Given the description of an element on the screen output the (x, y) to click on. 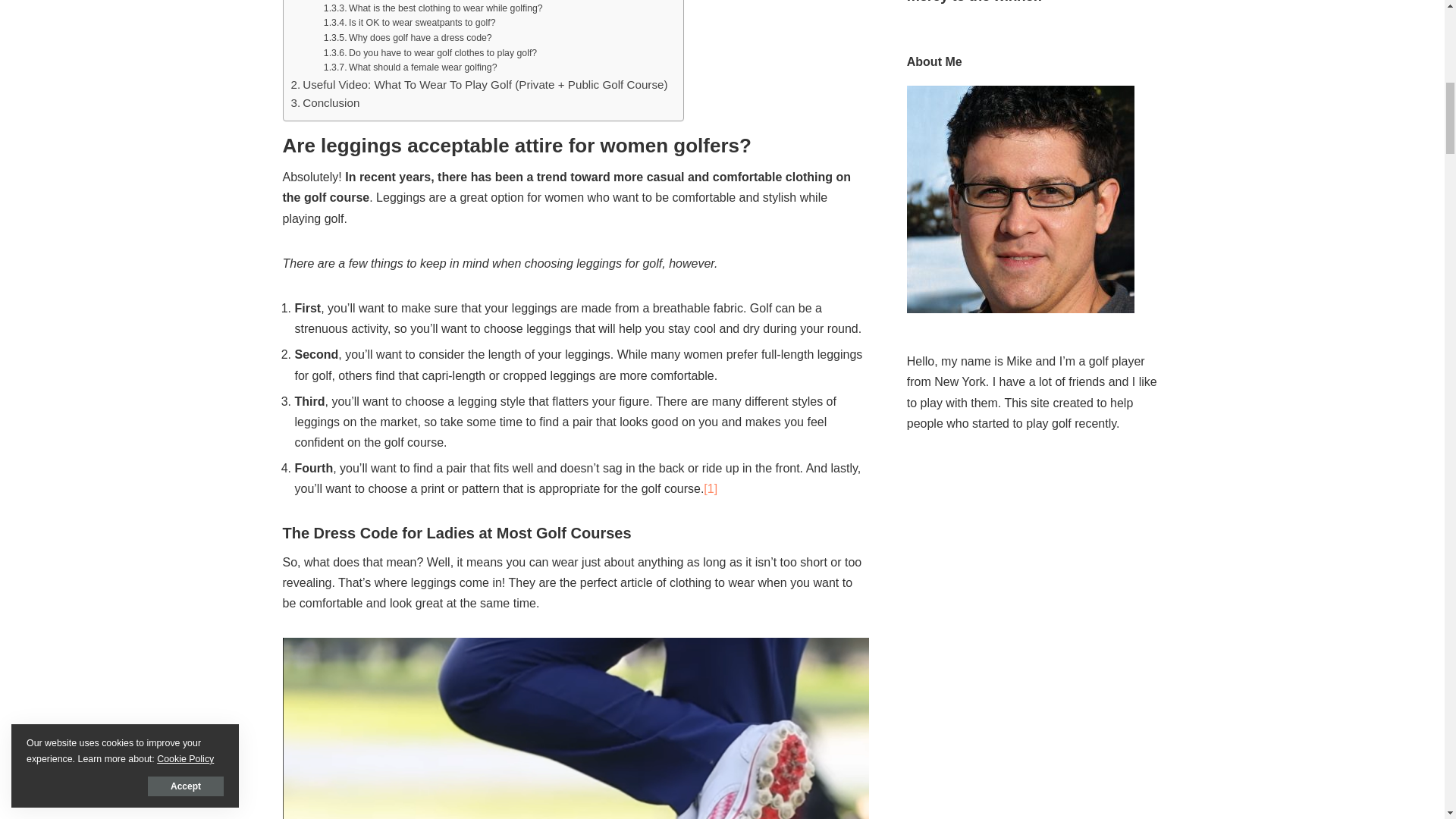
What should a female wear golfing? (410, 68)
Is it OK to wear sweatpants to golf? (409, 23)
Do you have to wear golf clothes to play golf? (430, 53)
What is the best clothing to wear while golfing? (433, 8)
Conclusion (325, 103)
Why does golf have a dress code? (407, 38)
